Given the description of an element on the screen output the (x, y) to click on. 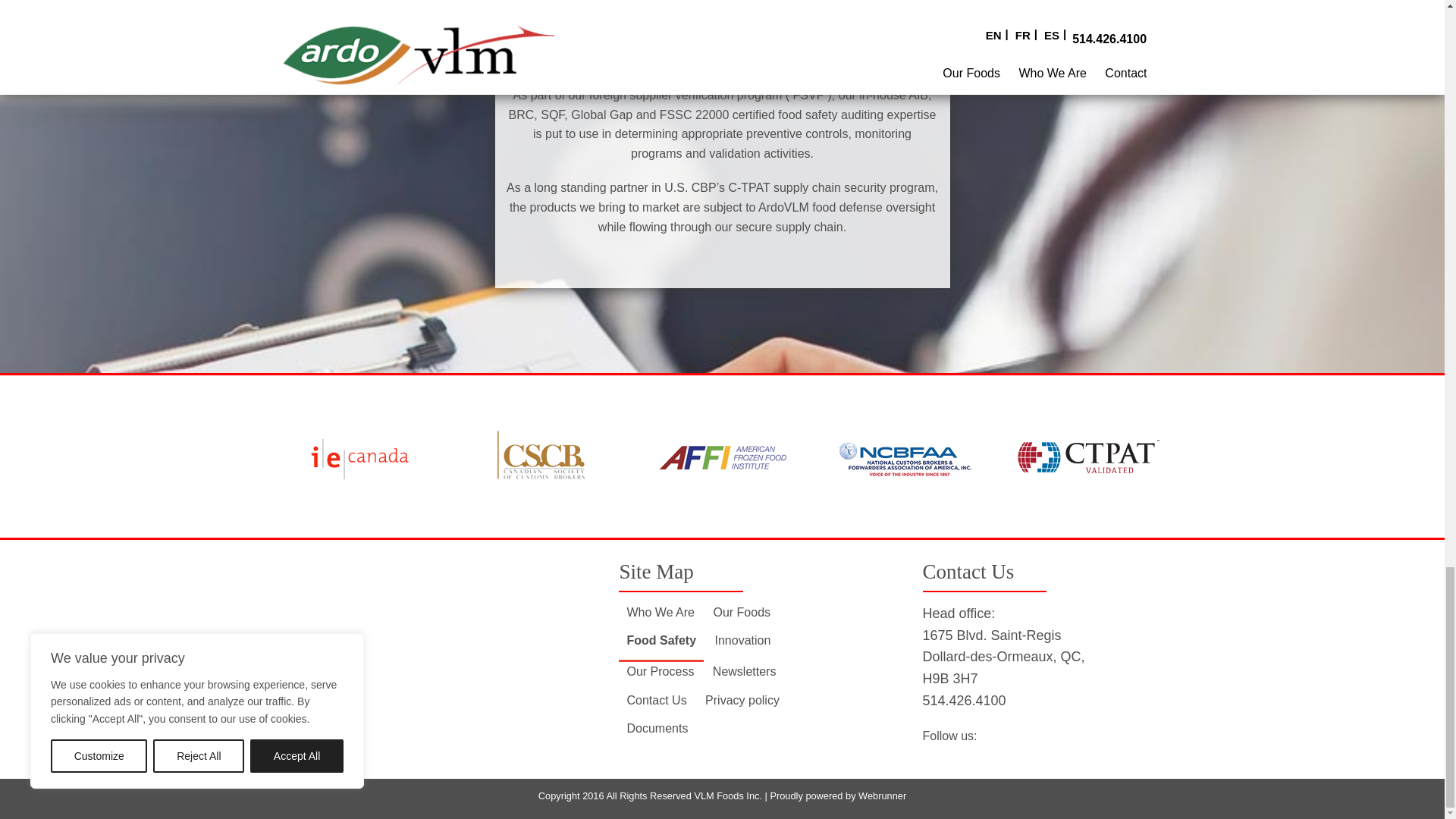
Food Safety (660, 640)
Privacy policy (741, 699)
Our Foods (741, 612)
Documents (656, 727)
Contact Us (655, 699)
Webrunner (882, 795)
Newsletters (744, 671)
Who We Are (660, 612)
Our Process (660, 671)
Innovation (742, 640)
